Given the description of an element on the screen output the (x, y) to click on. 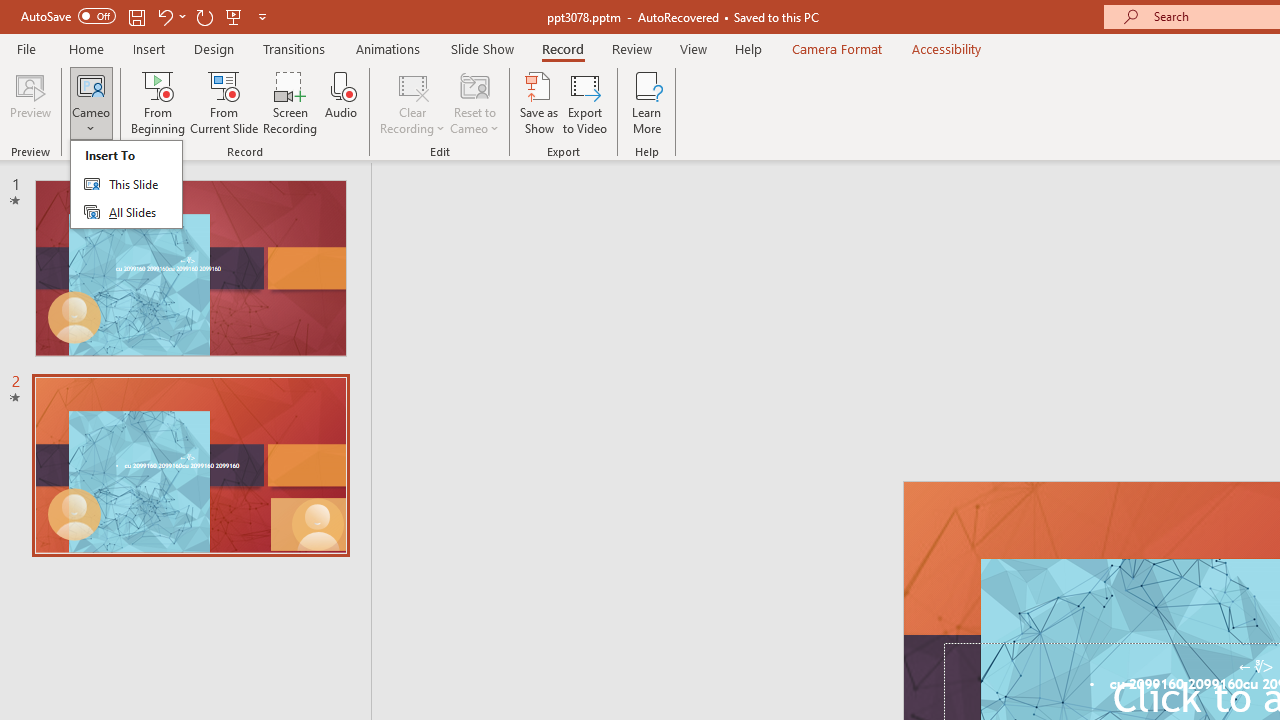
Camera Format (836, 48)
&Cameo (126, 183)
Reset to Cameo (474, 102)
Export to Video (585, 102)
